Given the description of an element on the screen output the (x, y) to click on. 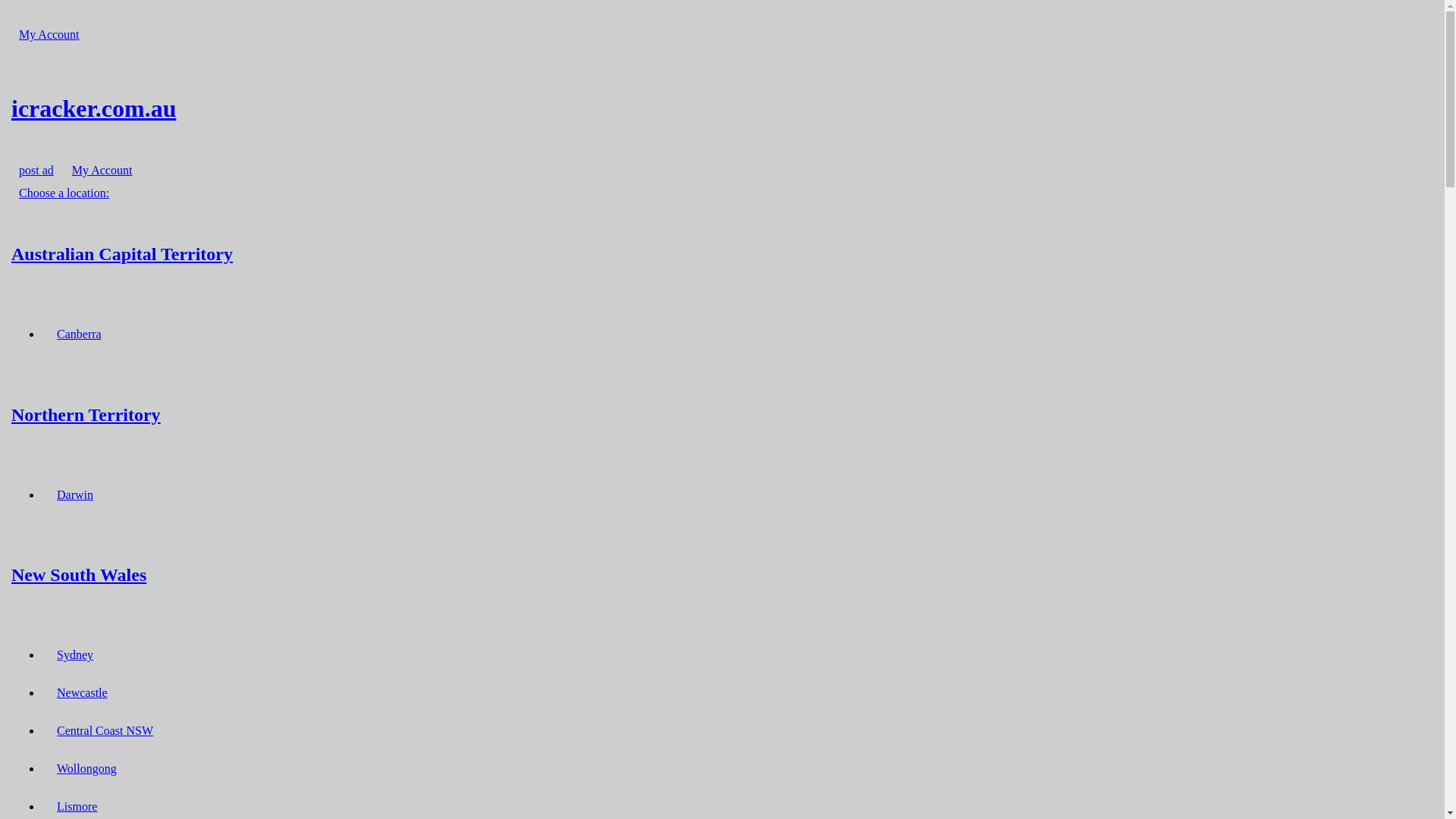
My Account Element type: text (49, 34)
Choose a location: Element type: text (63, 192)
post ad Element type: text (36, 170)
icracker.com.au Element type: text (722, 108)
New South Wales Element type: text (722, 575)
Wollongong Element type: text (86, 768)
Australian Capital Territory Element type: text (722, 253)
Canberra Element type: text (79, 334)
Central Coast NSW Element type: text (104, 730)
Newcastle Element type: text (82, 692)
Sydney Element type: text (74, 654)
Darwin Element type: text (74, 494)
My Account Element type: text (102, 170)
Northern Territory Element type: text (722, 414)
